Given the description of an element on the screen output the (x, y) to click on. 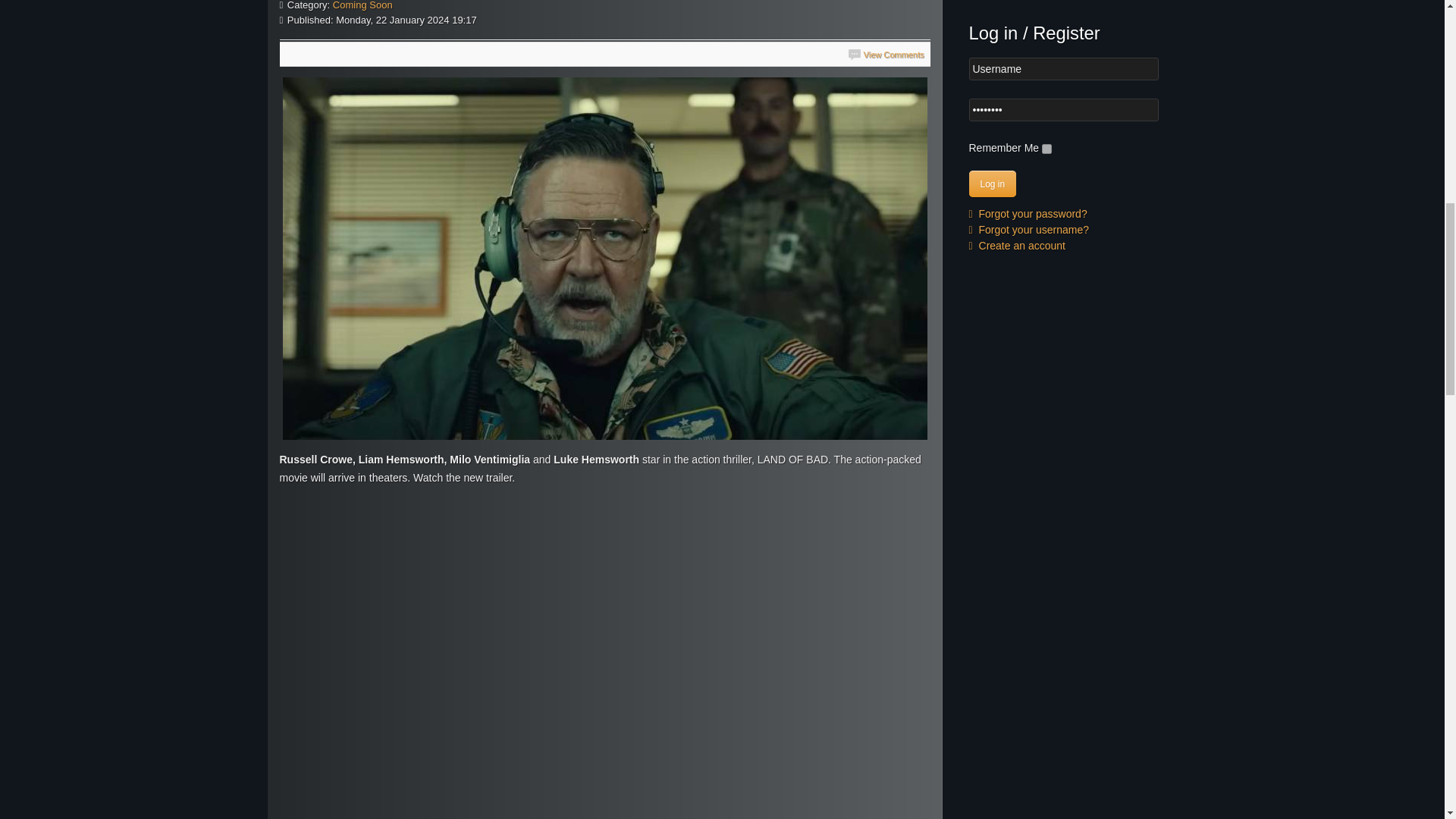
Create an account (1017, 245)
Password (1063, 109)
Username (1063, 68)
Coming Soon (363, 5)
yes (1046, 148)
View Comments (886, 54)
Forgot your username? (1029, 229)
Forgot your password? (1028, 214)
Log in (992, 183)
Log in (992, 183)
